Given the description of an element on the screen output the (x, y) to click on. 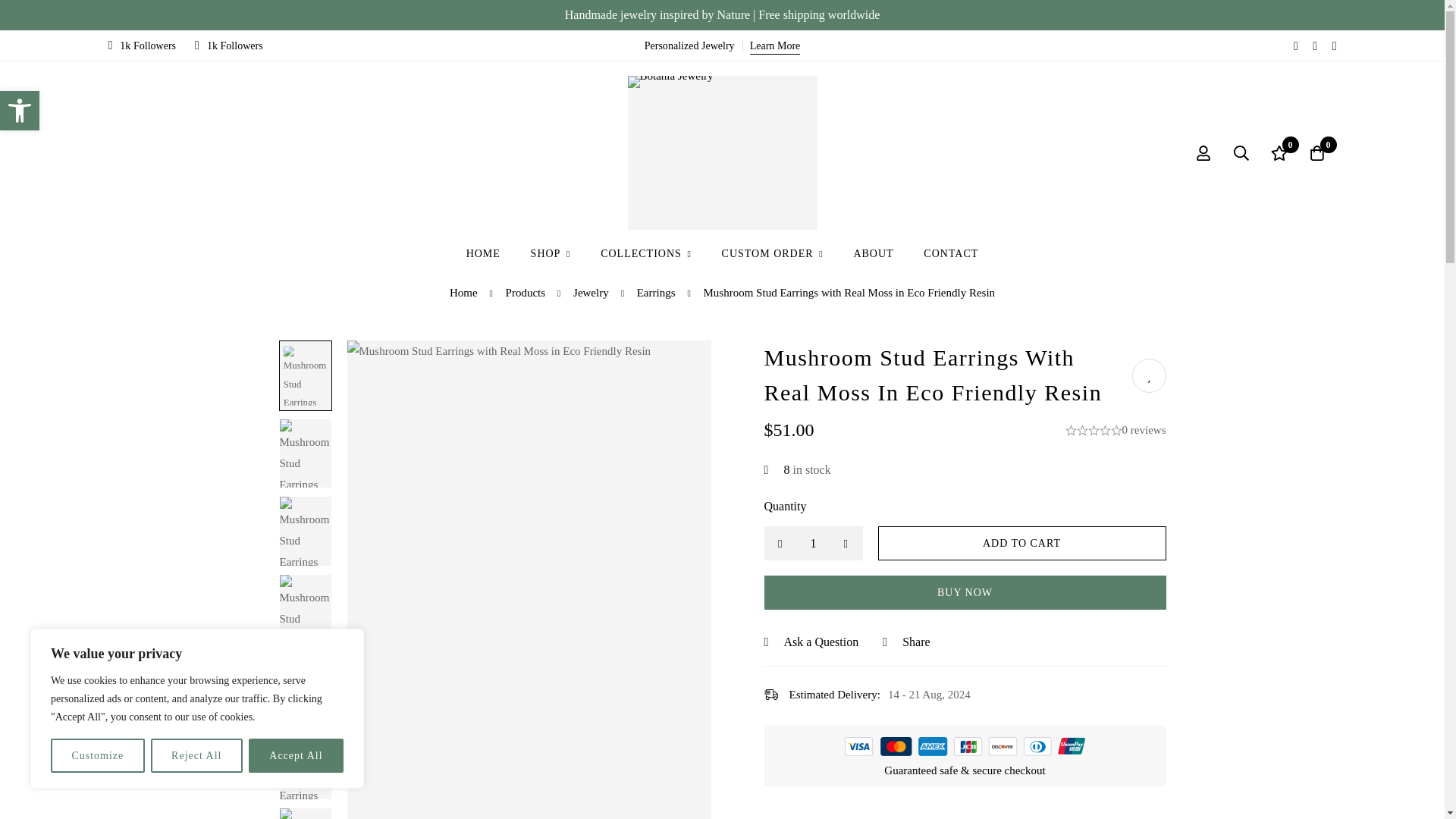
Accessibility Tools (19, 110)
Accept All (295, 755)
Reject All (19, 110)
1k Followers (197, 755)
Learn More (141, 45)
0 (774, 45)
1 (1279, 152)
1k Followers (813, 543)
HOME (229, 45)
